Given the description of an element on the screen output the (x, y) to click on. 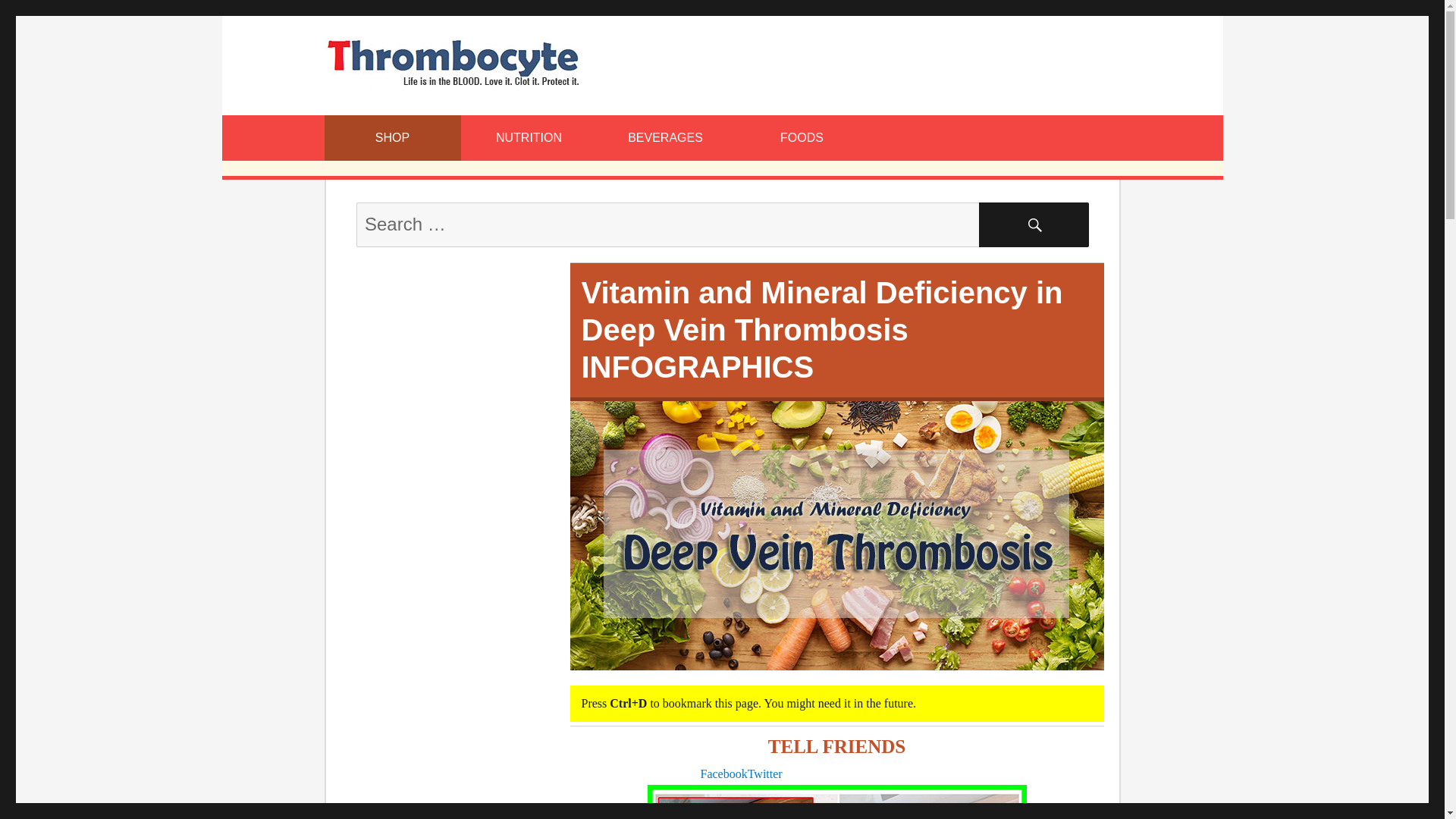
FOODS (801, 137)
BEVERAGES (664, 137)
Twitter (765, 773)
SHOP (392, 137)
Food and Nutrition Website (453, 60)
NUTRITION (528, 137)
Facebook (724, 773)
SEARCH (1033, 224)
